Given the description of an element on the screen output the (x, y) to click on. 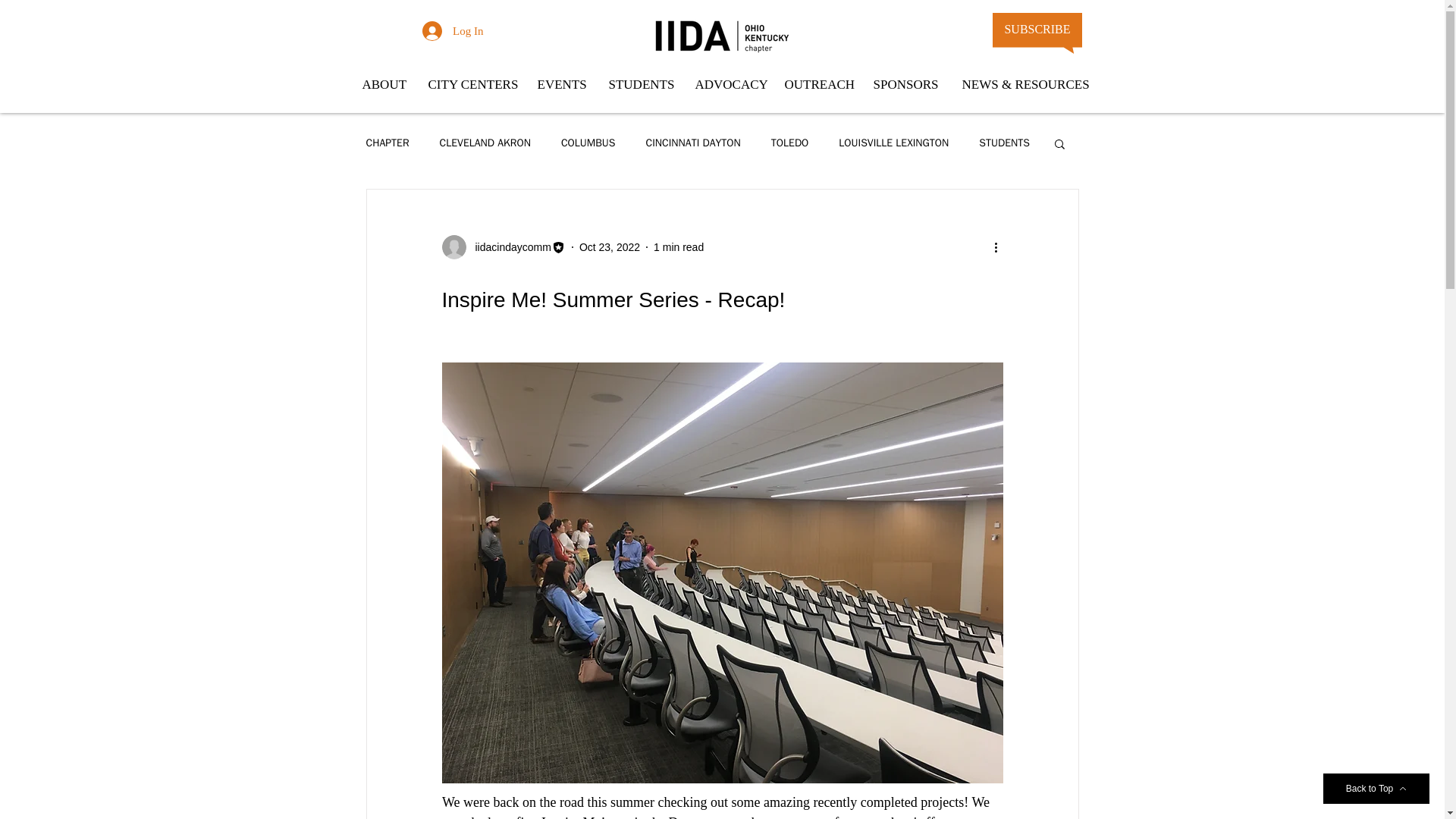
COLUMBUS (587, 142)
1 min read (678, 246)
Log In (452, 30)
iidacindaycomm (507, 247)
CHAPTER (387, 142)
CLEVELAND AKRON (485, 142)
SUBSCRIBE (1037, 29)
Oct 23, 2022 (609, 246)
